Given the description of an element on the screen output the (x, y) to click on. 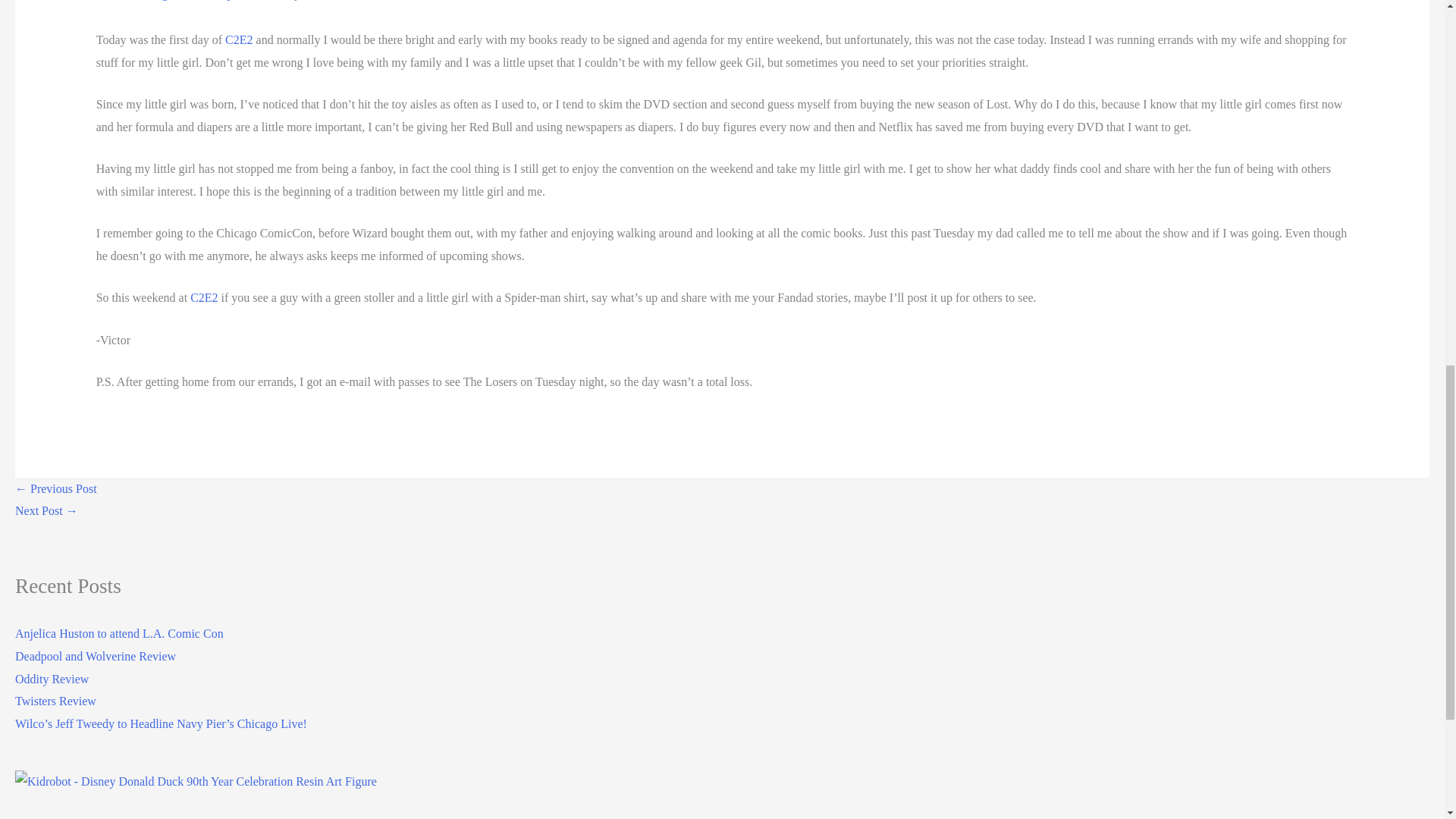
C2E2 (203, 297)
Deadpool and Wolverine Review (95, 656)
C2E2 10: Star Wars BDs in the Works - Blu-ray News at IGN (46, 510)
Anjelica Huston to attend L.A. Comic Con (119, 633)
C2E2 (238, 39)
The New Perk to Being a Dad or The Extra Gift. (55, 488)
